Given the description of an element on the screen output the (x, y) to click on. 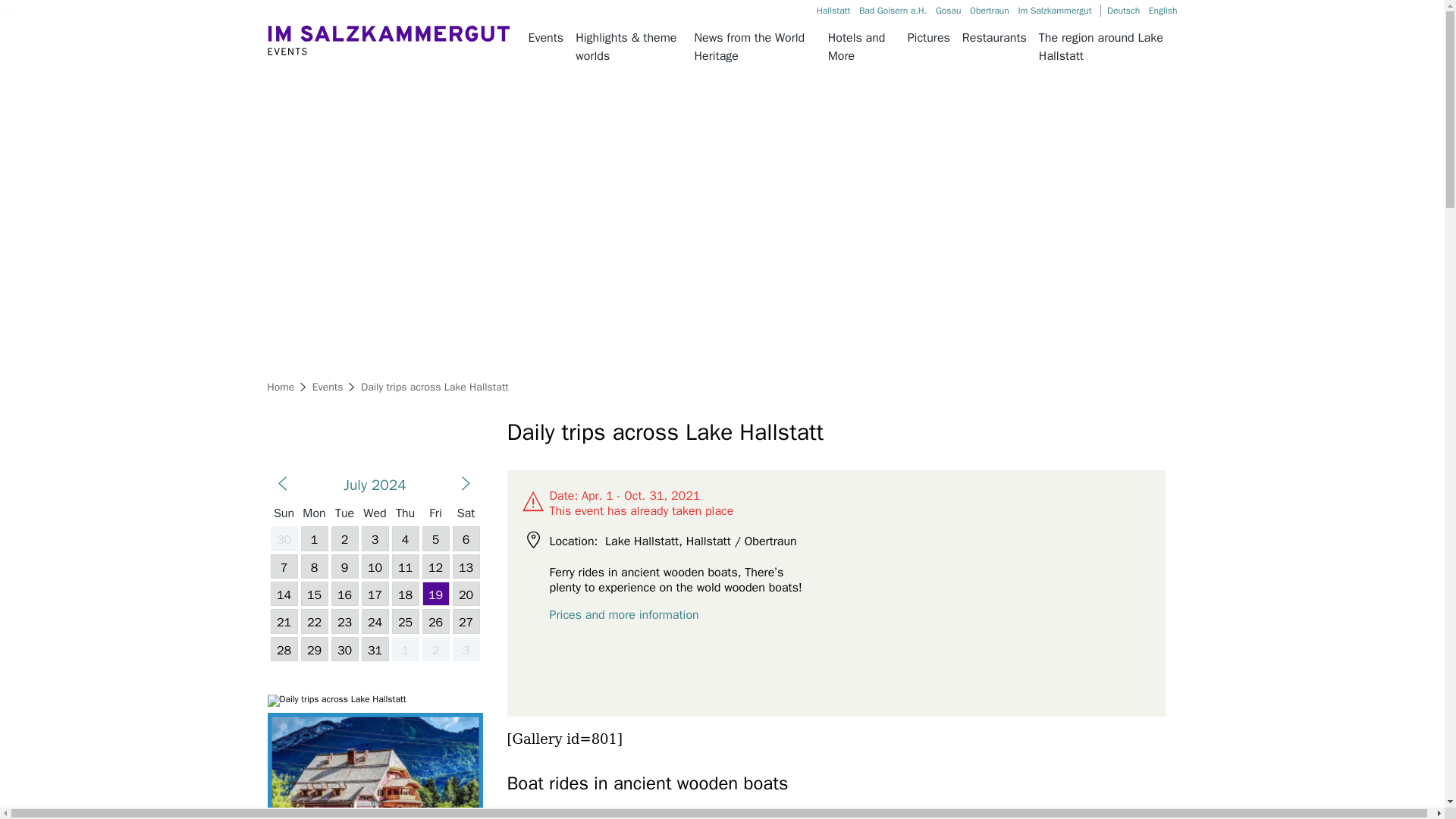
Bad Goisern a.H. (892, 10)
Fahrten mit dem alten Salzschiff - German (1123, 10)
Gosau (948, 10)
Hallstatt (833, 10)
